Given the description of an element on the screen output the (x, y) to click on. 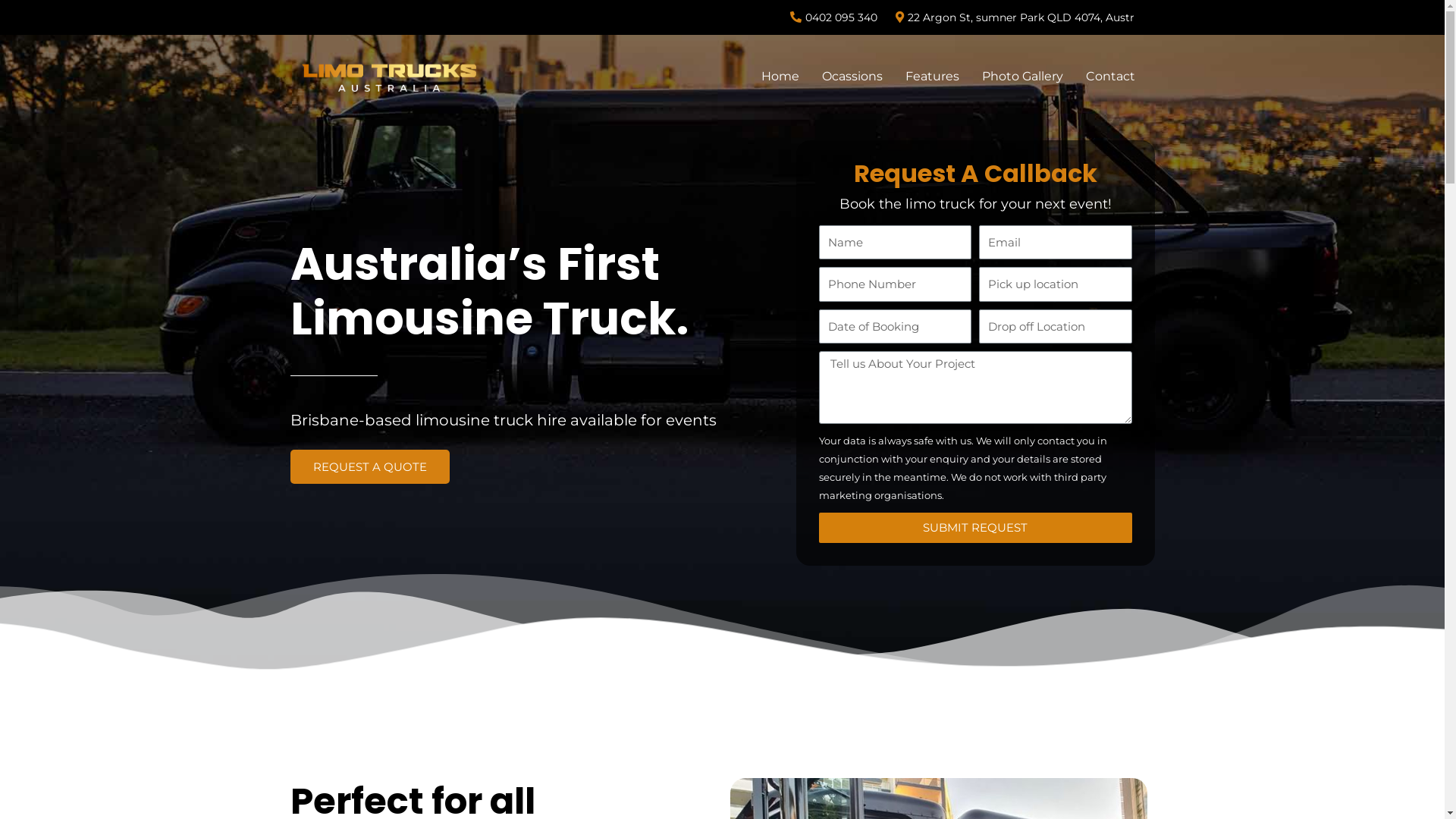
SUBMIT REQUEST Element type: text (975, 527)
Contact Element type: text (1110, 76)
Features Element type: text (932, 76)
Home Element type: text (779, 76)
Photo Gallery Element type: text (1022, 76)
Ocassions Element type: text (852, 76)
REQUEST A QUOTE Element type: text (368, 466)
0402 095 340 Element type: text (832, 17)
